Given the description of an element on the screen output the (x, y) to click on. 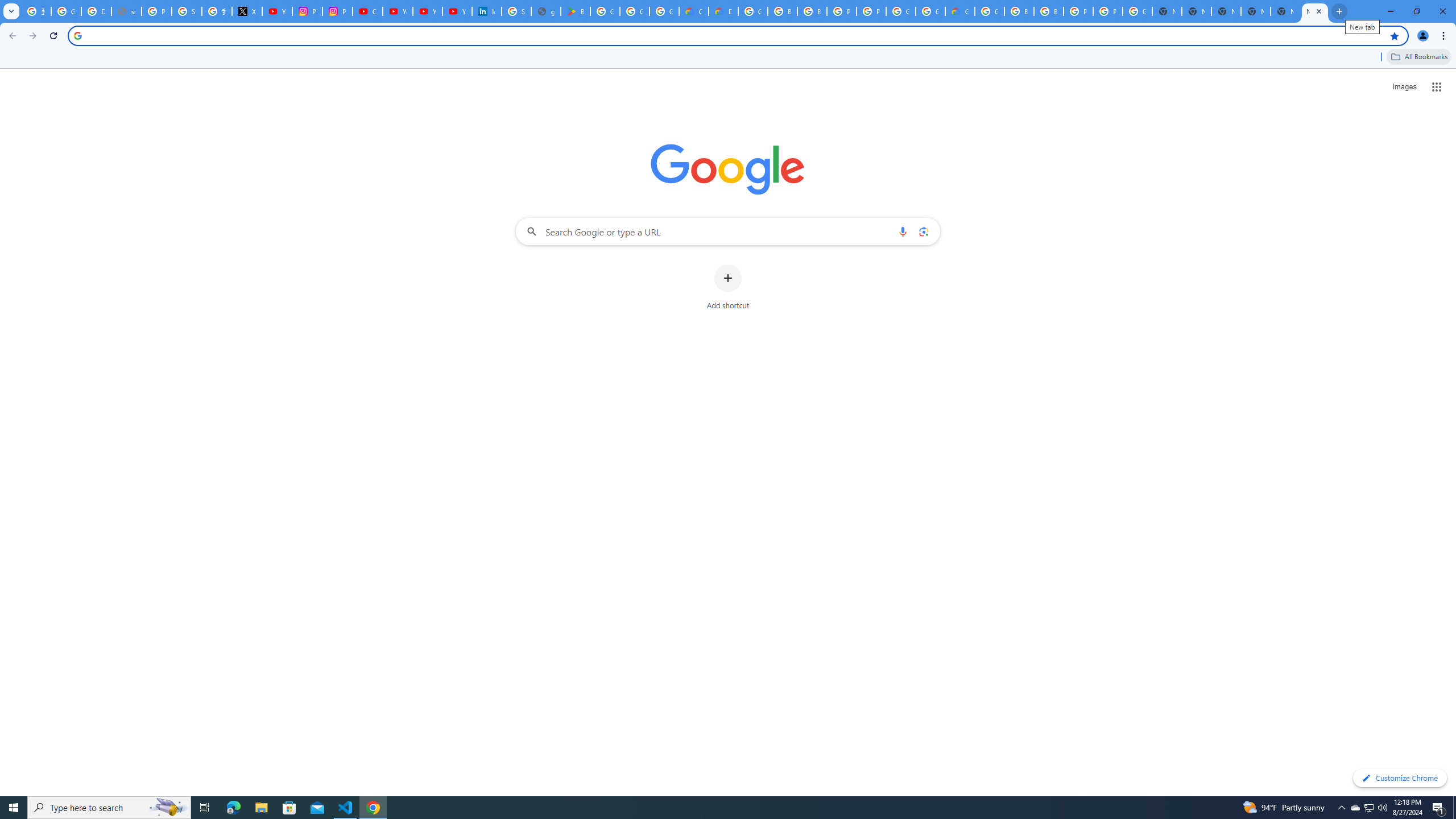
Google Cloud Platform (1137, 11)
New Tab (1196, 11)
Sign in - Google Accounts (515, 11)
Bluey: Let's Play! - Apps on Google Play (575, 11)
Search for Images  (1403, 87)
New Tab (1314, 11)
google_privacy_policy_en.pdf (545, 11)
Browse Chrome as a guest - Computer - Google Chrome Help (1018, 11)
X (247, 11)
